Given the description of an element on the screen output the (x, y) to click on. 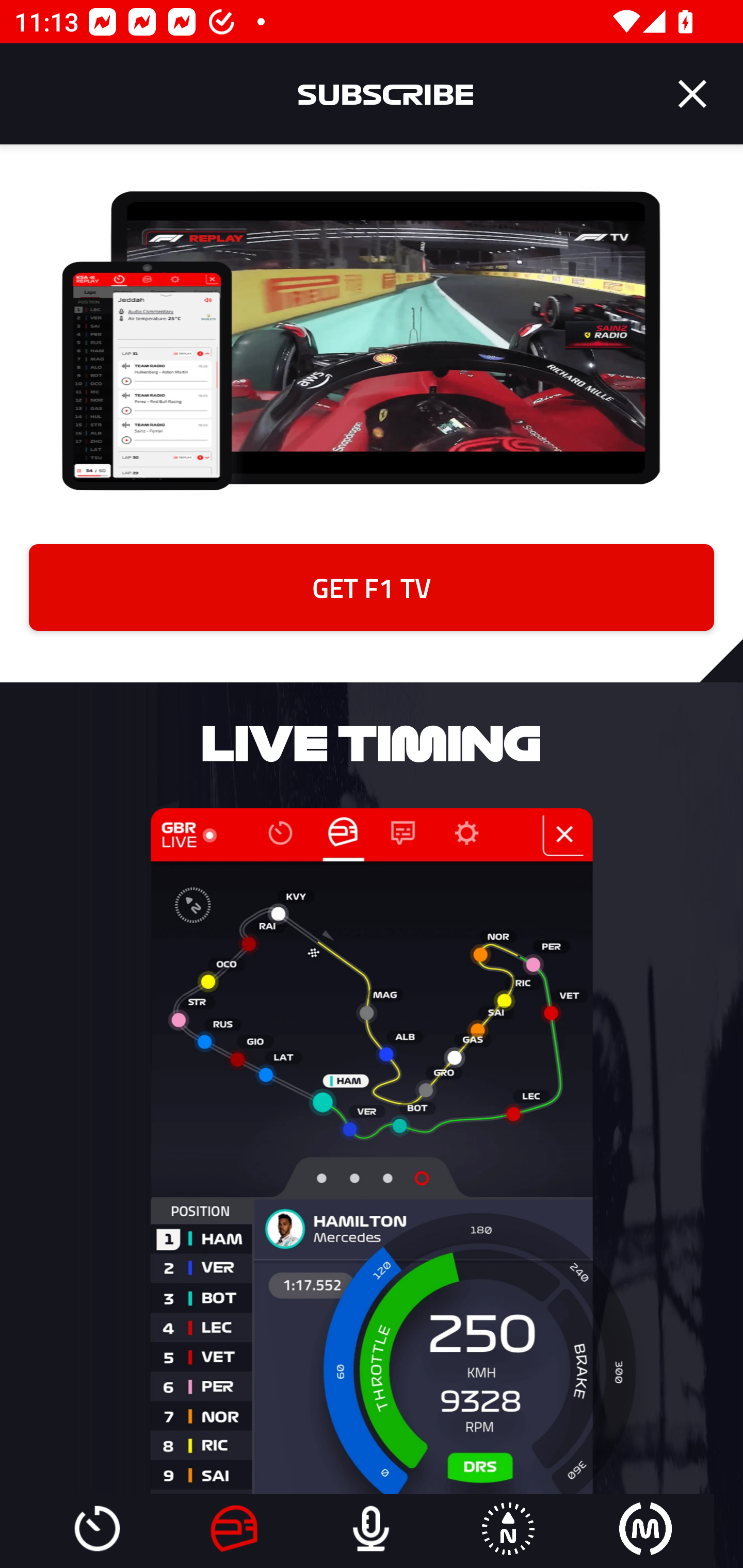
Close (692, 93)
GET F1 TV (371, 587)
